Given the description of an element on the screen output the (x, y) to click on. 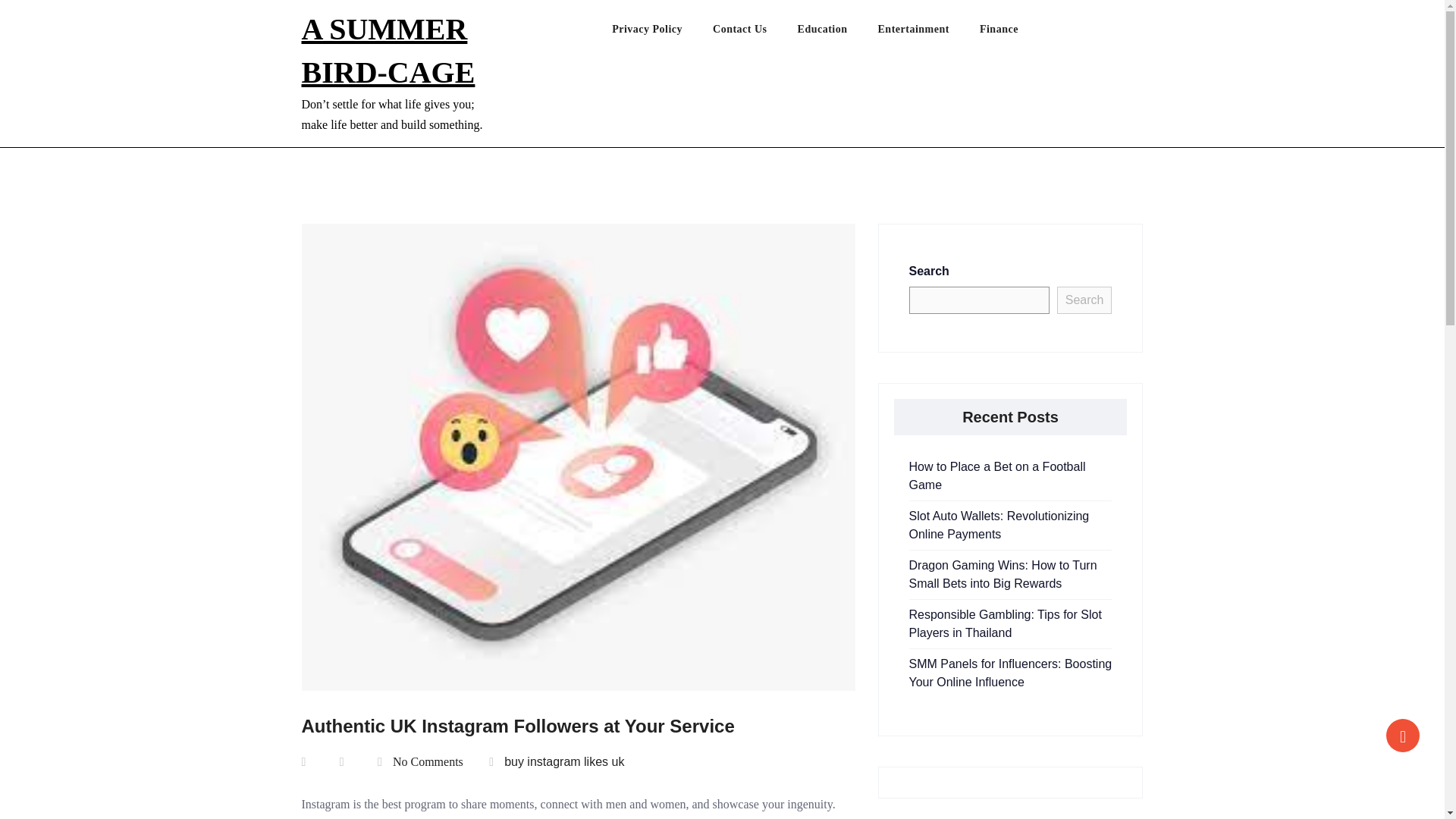
Slot Auto Wallets: Revolutionizing Online Payments (998, 524)
Search (1084, 299)
A SUMMER BIRD-CAGE (388, 50)
Responsible Gambling: Tips for Slot Players in Thailand (1004, 623)
SMM Panels for Influencers: Boosting Your Online Influence (1010, 672)
Privacy Policy (662, 32)
Entertainment (928, 32)
Dragon Gaming Wins: How to Turn Small Bets into Big Rewards (1002, 573)
Finance (1013, 32)
Education (837, 32)
How to Place a Bet on a Football Game (996, 475)
Contact Us (755, 32)
buy instagram likes uk (563, 761)
